Given the description of an element on the screen output the (x, y) to click on. 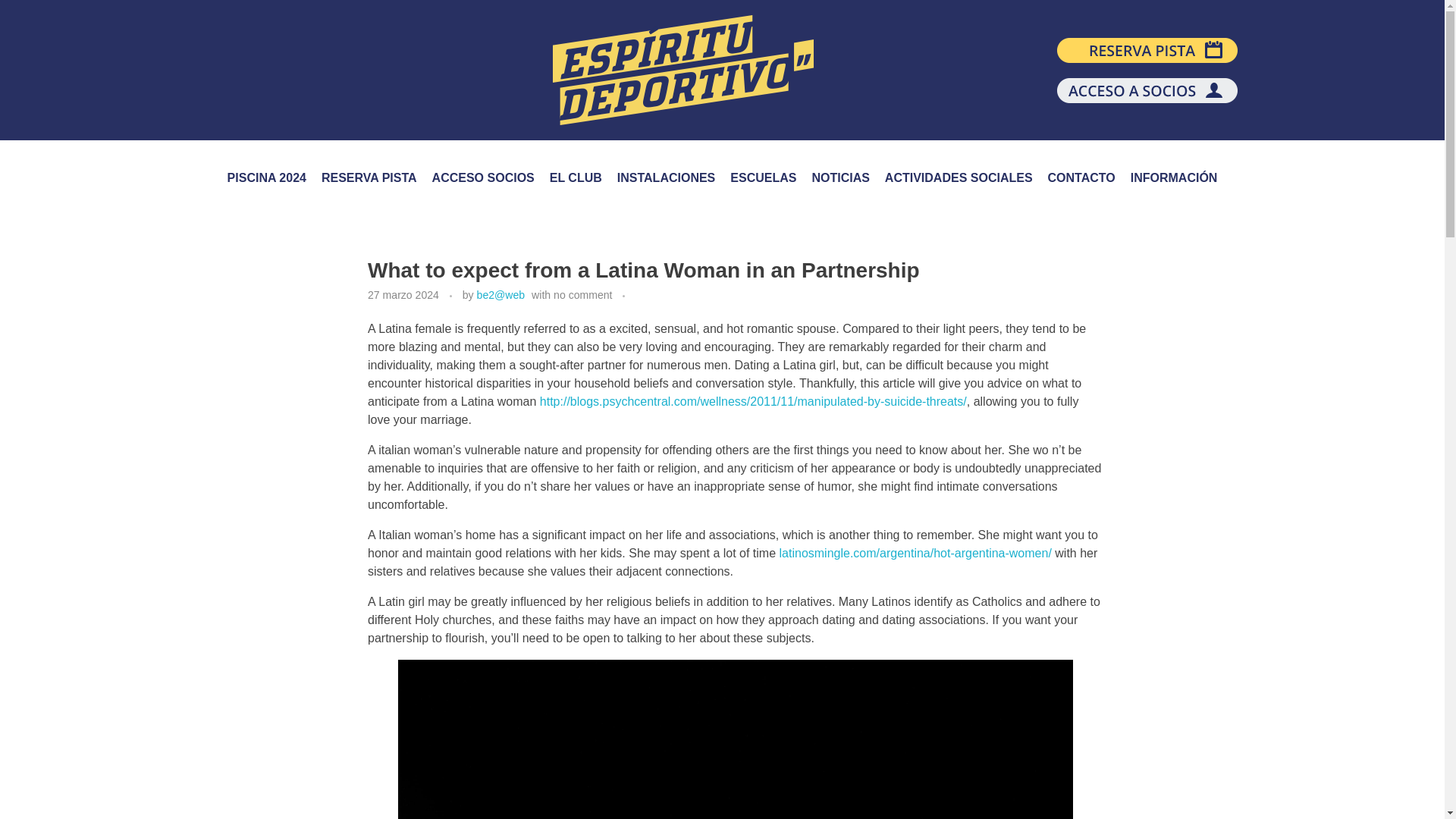
CONTACTO (1081, 177)
INSTALACIONES (666, 177)
RESERVA PISTA (369, 177)
ACTIVIDADES SOCIALES (959, 177)
NOTICIAS (839, 177)
PISCINA 2024 (266, 177)
ESCUELAS (762, 177)
ACCESO SOCIOS (483, 177)
EL CLUB (575, 177)
